Given the description of an element on the screen output the (x, y) to click on. 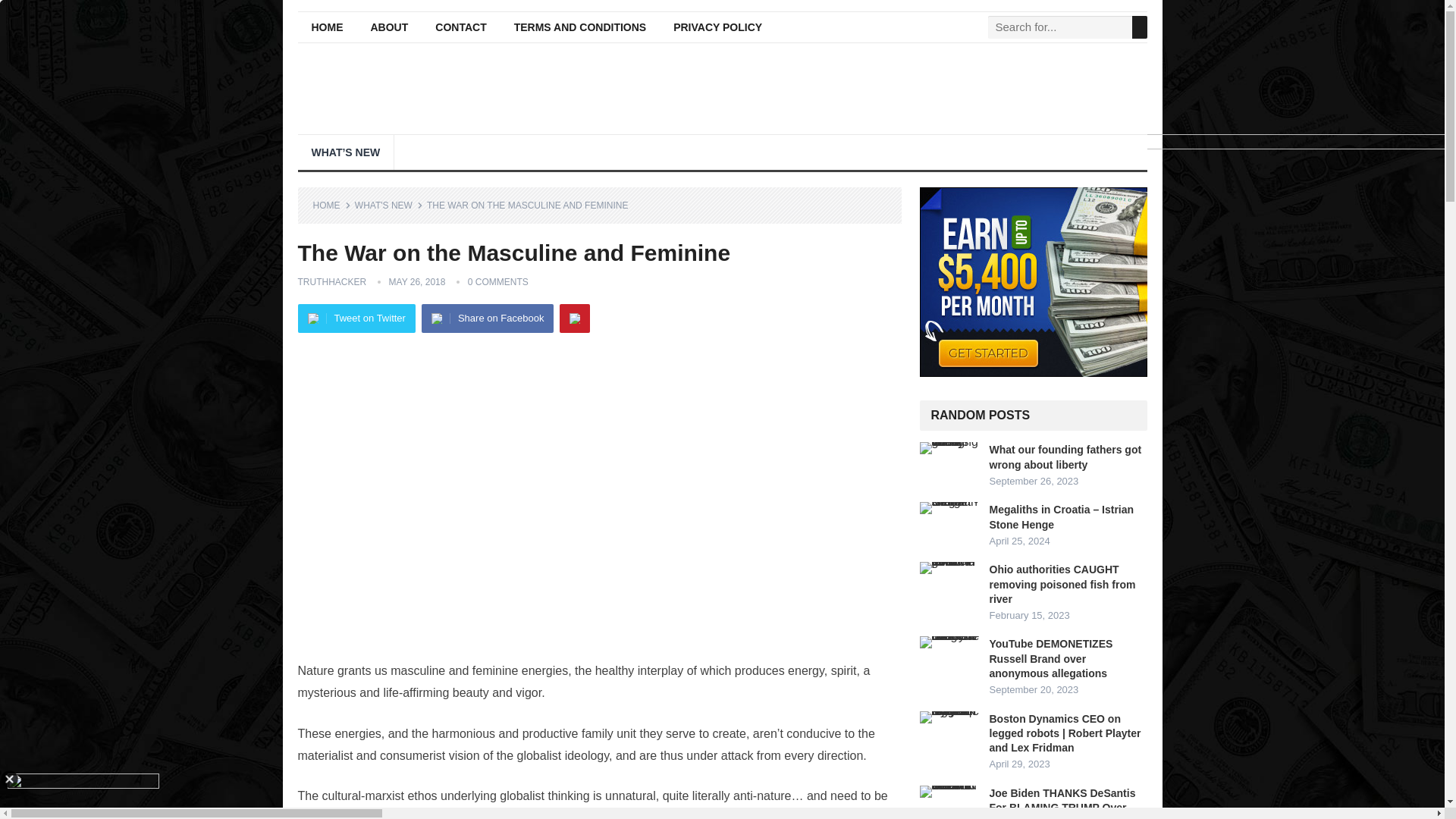
HOME (331, 204)
HOME (326, 27)
CONTACT (460, 27)
WHAT'S NEW (389, 204)
PRIVACY POLICY (717, 27)
ABOUT (389, 27)
0 COMMENTS (497, 281)
Posts by TruthHacker (331, 281)
Share on Facebook (487, 317)
View all posts in What's New (389, 204)
TERMS AND CONDITIONS (579, 27)
Pinterest (574, 317)
Tweet on Twitter (355, 317)
TRUTHHACKER (331, 281)
